Given the description of an element on the screen output the (x, y) to click on. 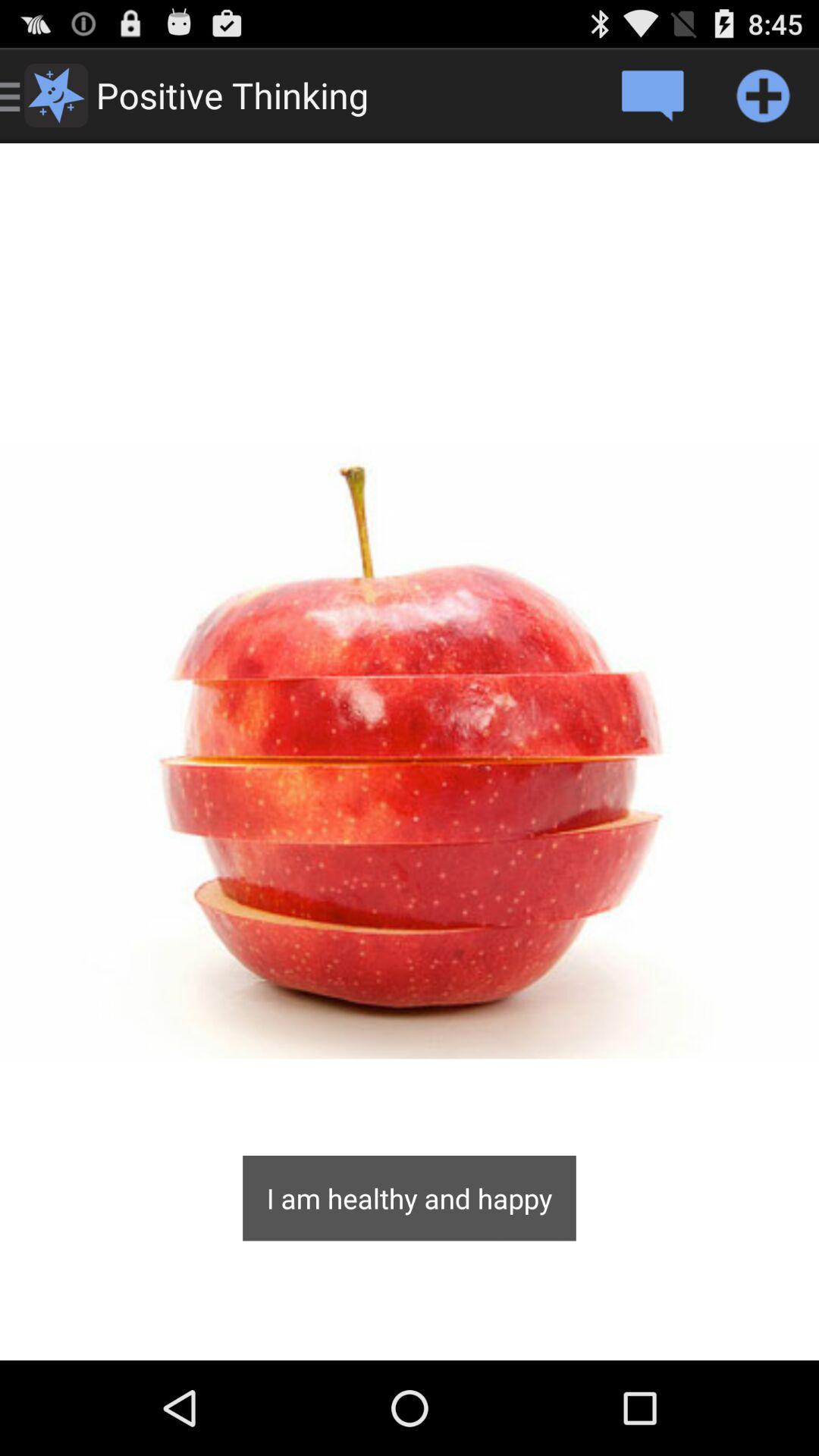
add element to your phone (763, 95)
